Given the description of an element on the screen output the (x, y) to click on. 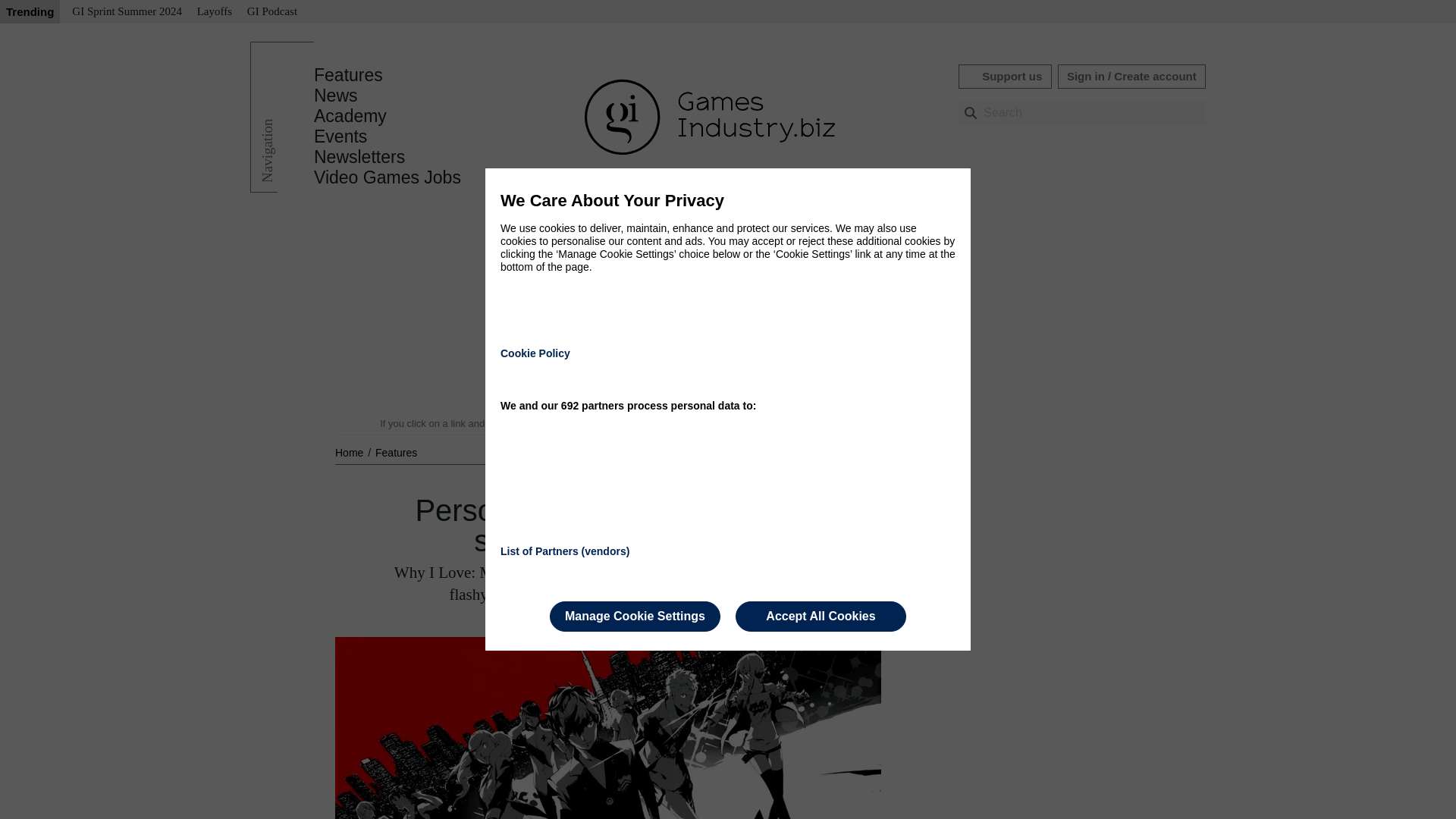
Newsletters (359, 157)
GI Podcast (271, 11)
Layoffs (214, 11)
GI Sprint Summer 2024 (126, 11)
Support us (1004, 75)
Events (340, 136)
Layoffs (214, 11)
Academy (350, 116)
Features (348, 75)
Newsletters (359, 157)
Features (348, 75)
GI Sprint Summer 2024 (126, 11)
Home (350, 452)
News (336, 95)
Features (395, 452)
